Given the description of an element on the screen output the (x, y) to click on. 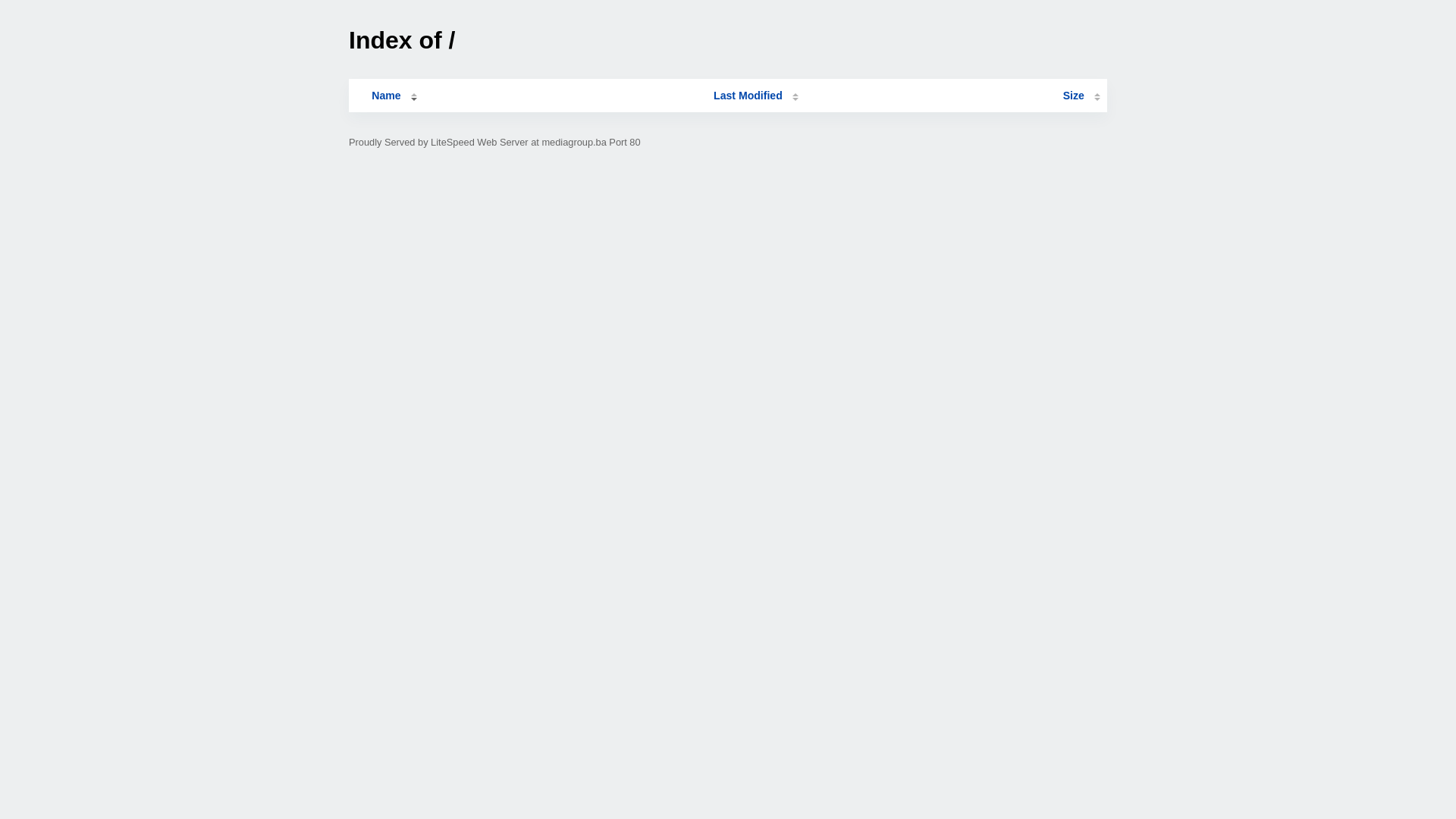
Size Element type: text (1081, 95)
Name Element type: text (385, 95)
Last Modified Element type: text (755, 95)
